Given the description of an element on the screen output the (x, y) to click on. 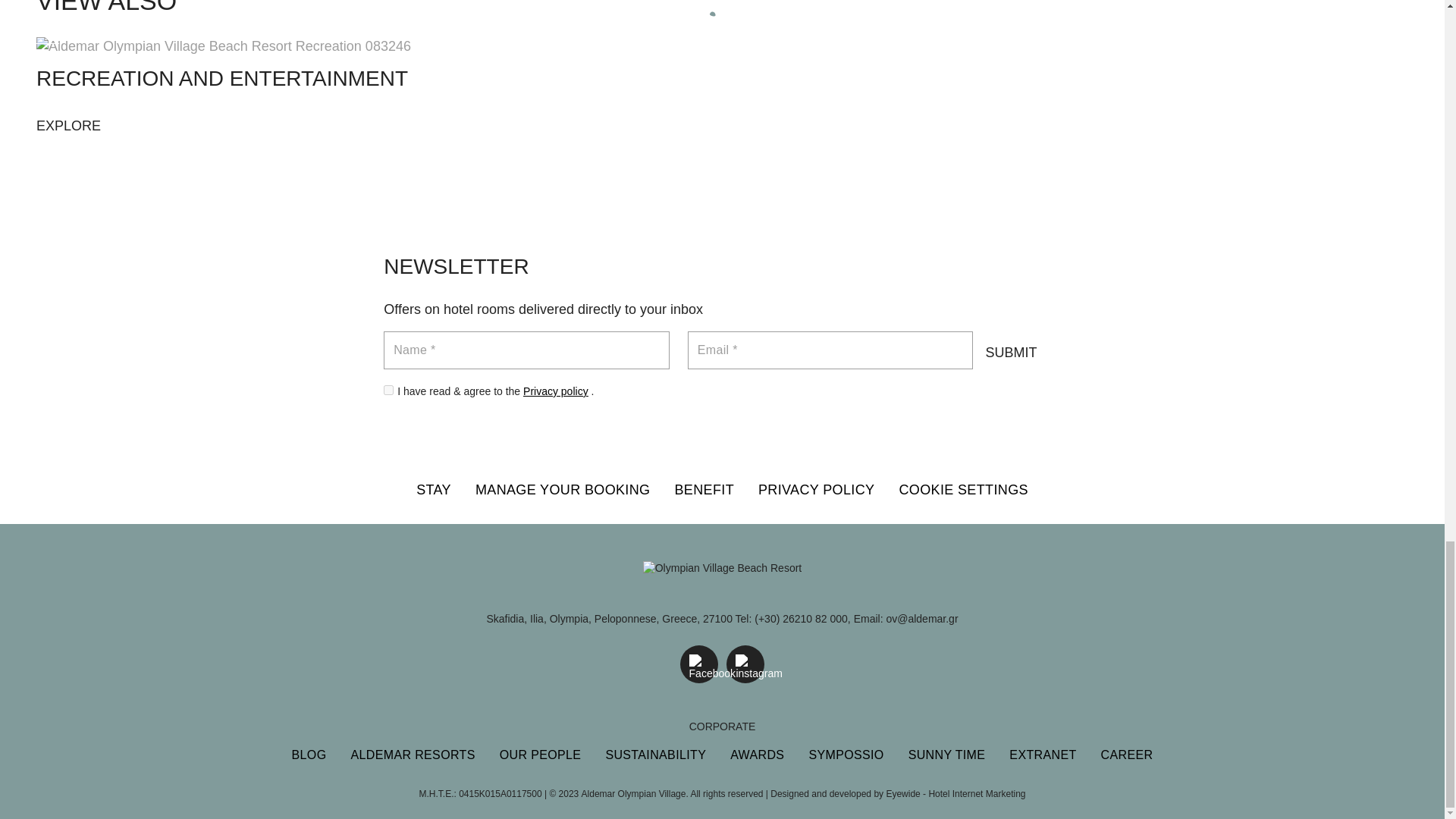
true (388, 389)
Facebook (698, 664)
RECREATION AND ENTERTAINMENT  (223, 45)
RECREATION AND ENTERTAINMENT  (68, 125)
instagram (745, 664)
Eyewide - Hotel Internet Marketing (955, 793)
